Given the description of an element on the screen output the (x, y) to click on. 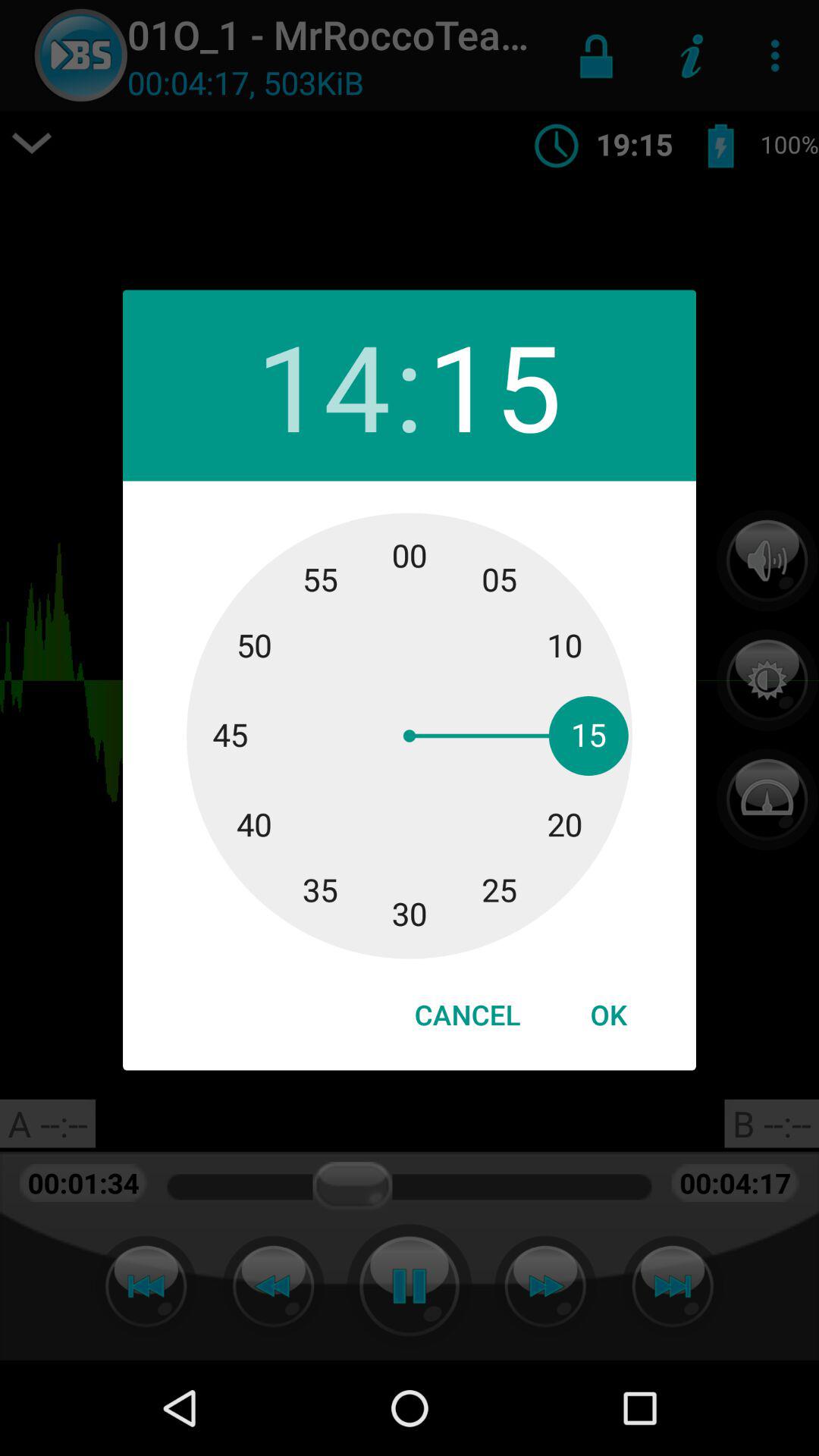
choose the 15 (494, 384)
